Given the description of an element on the screen output the (x, y) to click on. 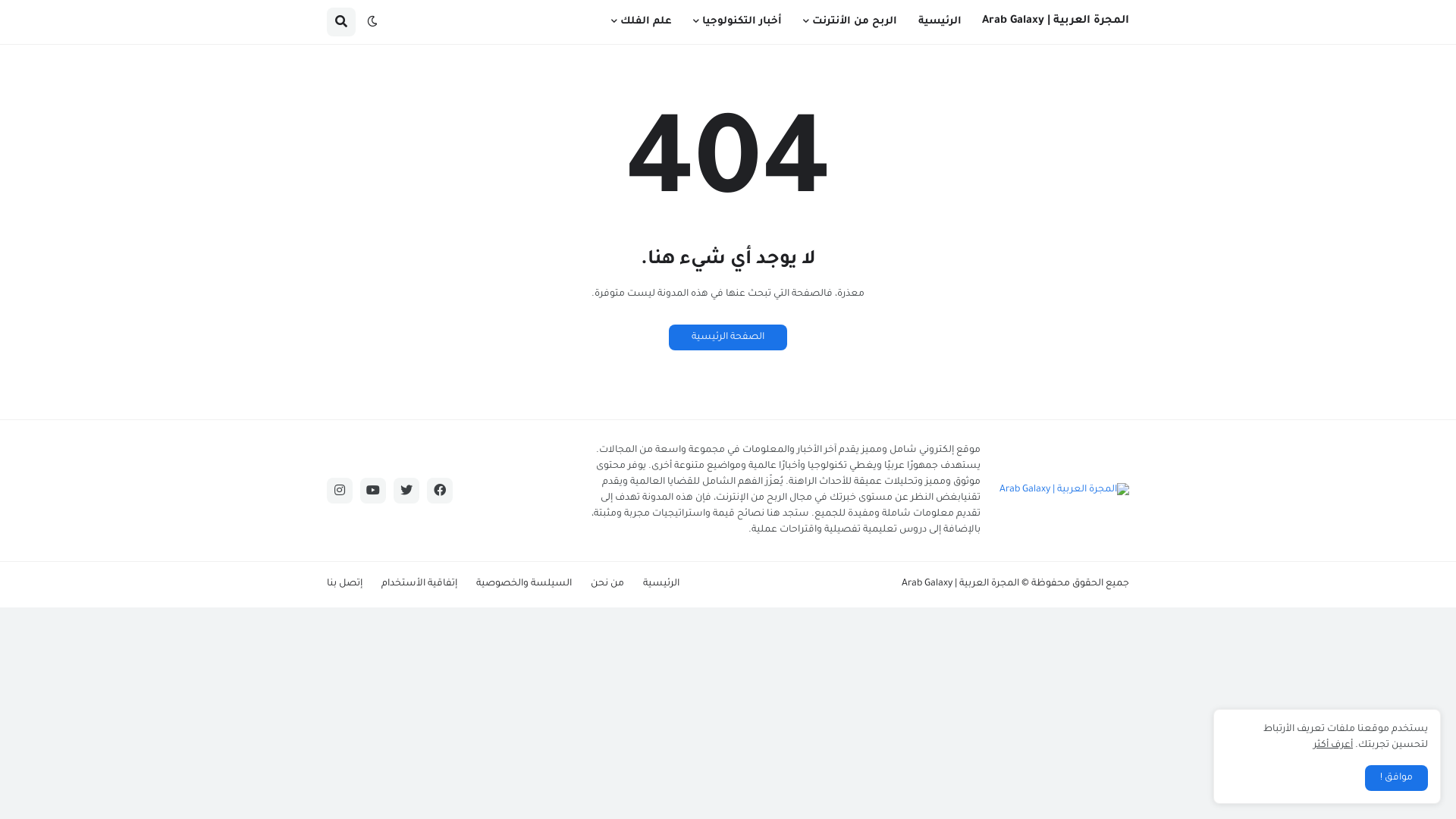
twitter Element type: hover (406, 490)
youtube Element type: hover (372, 490)
facebook Element type: hover (439, 490)
instagram Element type: hover (339, 490)
